Given the description of an element on the screen output the (x, y) to click on. 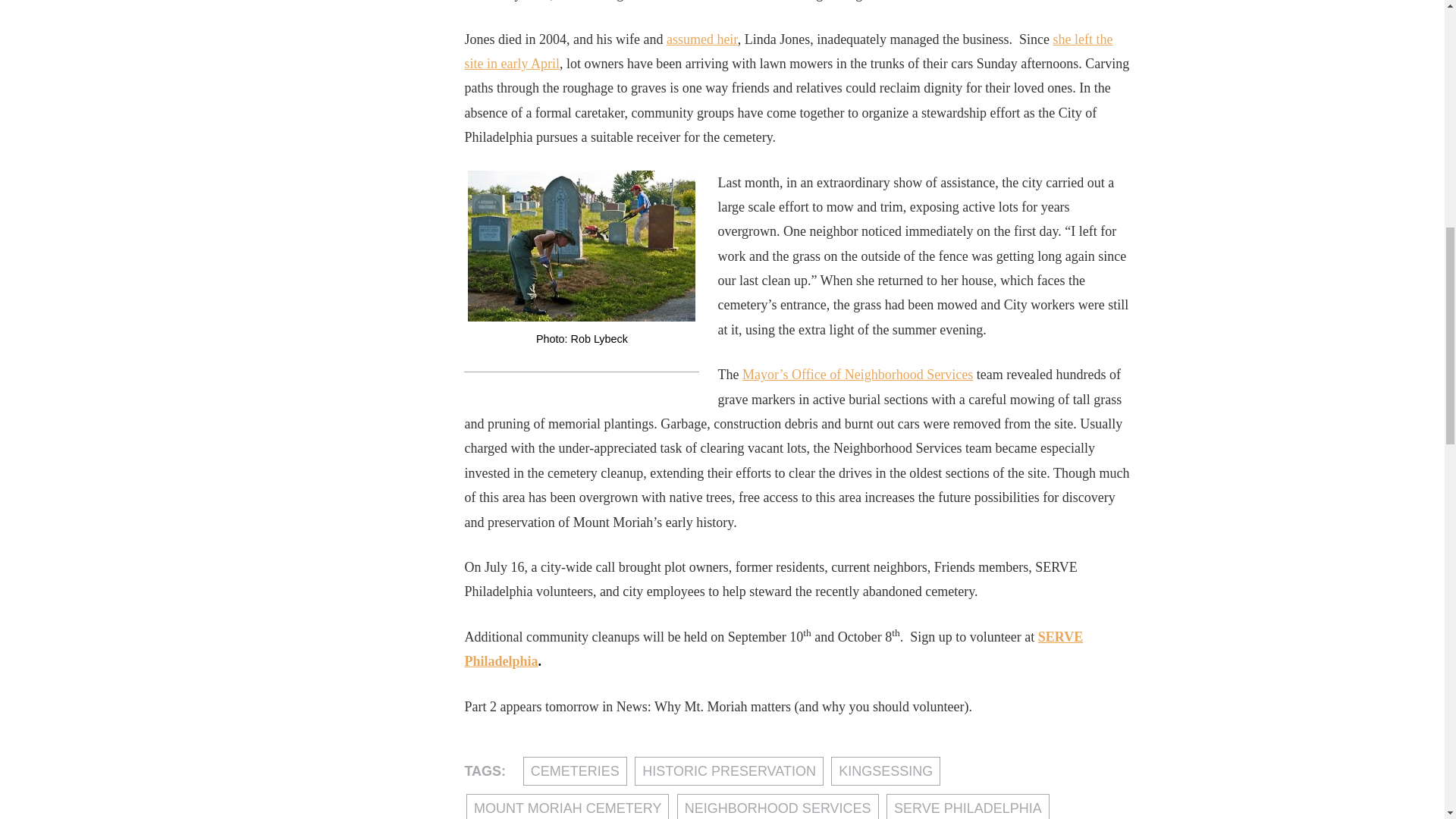
NEIGHBORHOOD SERVICES (778, 806)
SERVE Philadelphia (773, 649)
CEMETERIES (574, 770)
KINGSESSING (885, 770)
SERVE PHILADELPHIA (967, 806)
HISTORIC PRESERVATION (729, 770)
assumed heir (702, 38)
she left the site in early April (788, 51)
MOUNT MORIAH CEMETERY (566, 806)
